Given the description of an element on the screen output the (x, y) to click on. 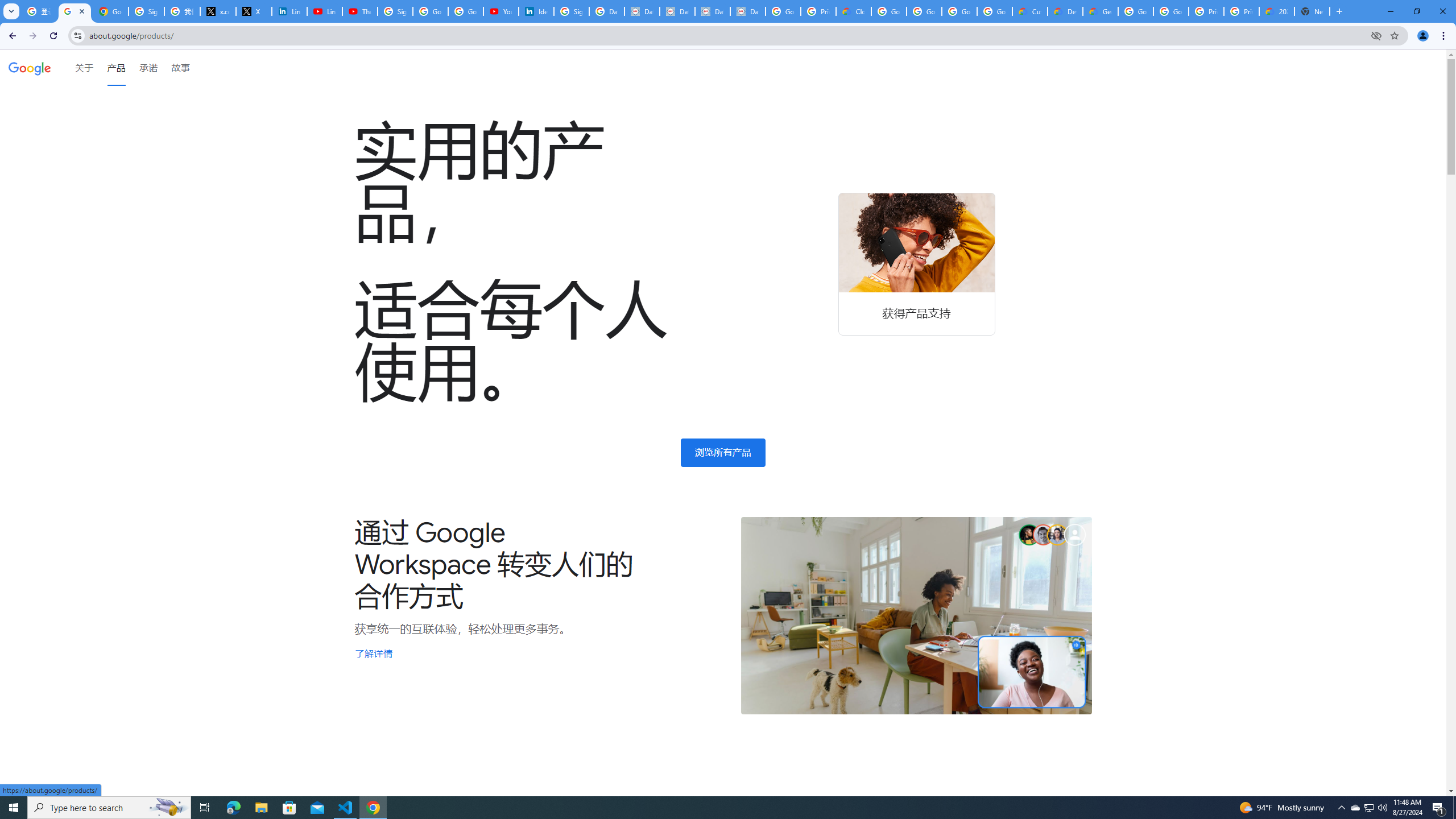
Data Privacy Framework (712, 11)
Sign in - Google Accounts (145, 11)
New Tab (1312, 11)
Google Cloud Platform (1135, 11)
Sign in - Google Accounts (394, 11)
